Given the description of an element on the screen output the (x, y) to click on. 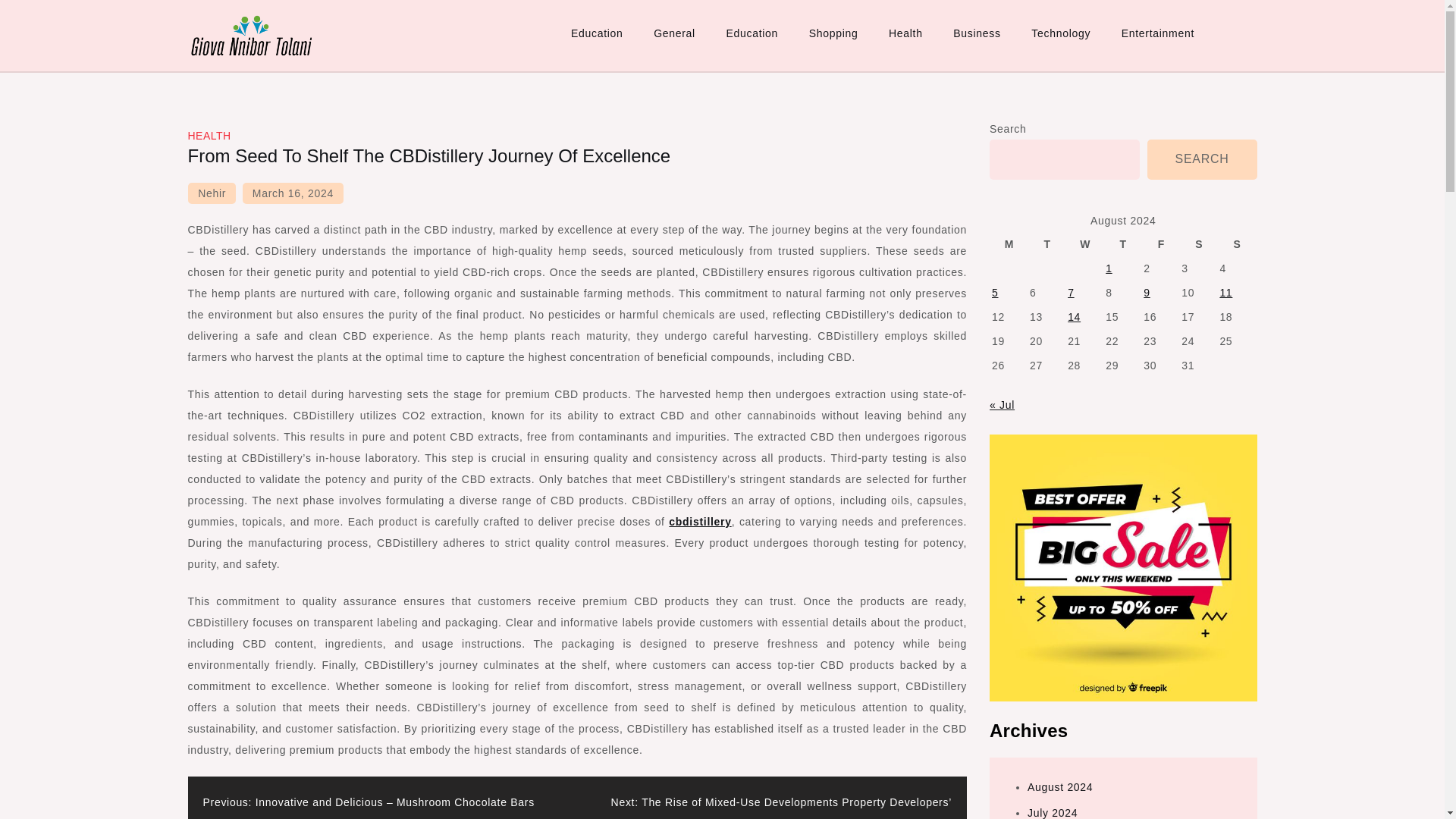
Shopping (833, 33)
Education (597, 33)
Friday (1160, 243)
Thursday (1123, 243)
Health (905, 33)
SEARCH (1202, 159)
General Information (299, 74)
Tuesday (1047, 243)
August 2024 (1060, 787)
Entertainment (1158, 33)
